Given the description of an element on the screen output the (x, y) to click on. 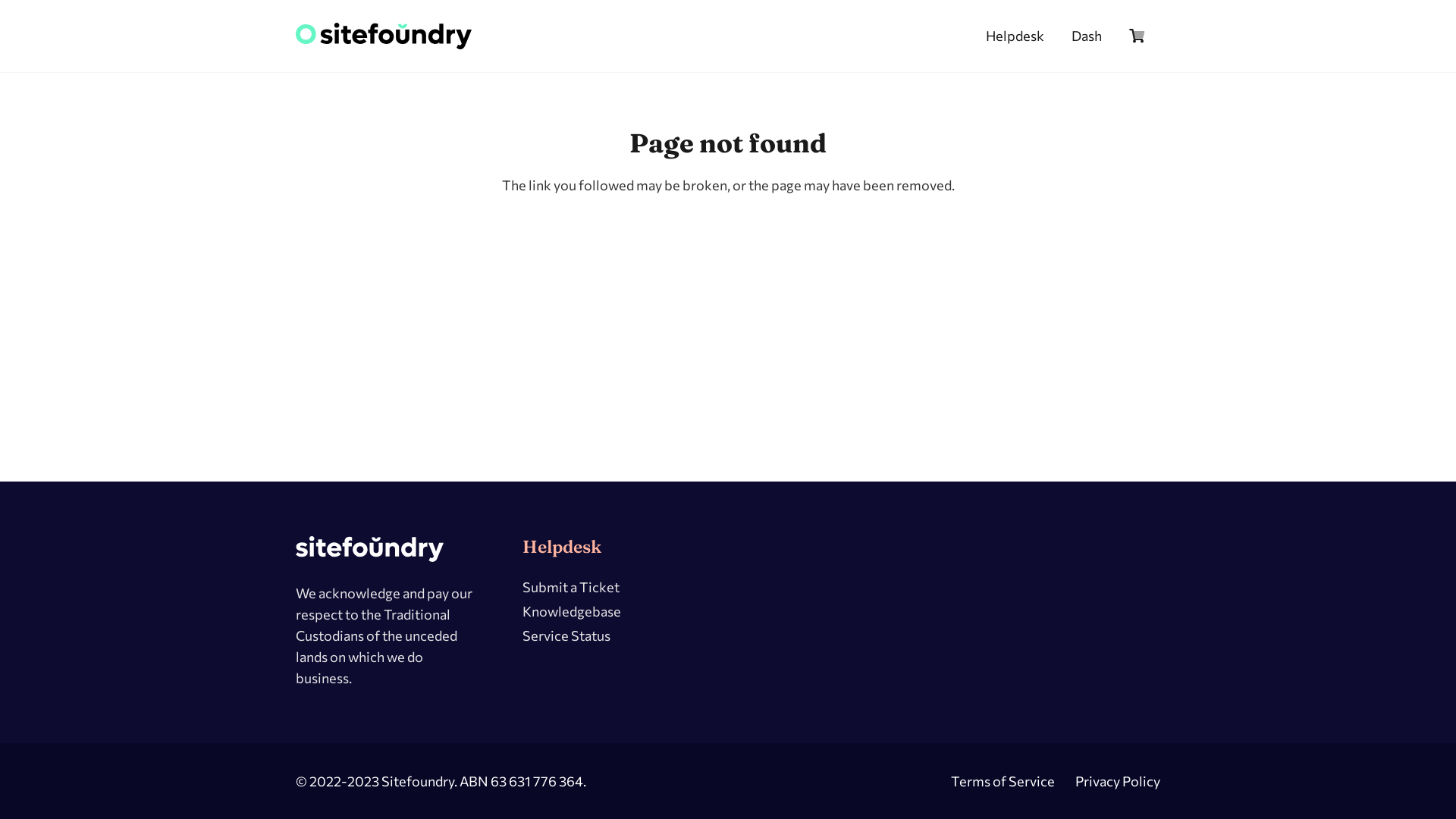
Helpdesk Element type: text (1014, 36)
Knowledgebase Element type: text (570, 610)
Dash Element type: text (1086, 36)
Submit a Ticket Element type: text (569, 586)
Terms of Service Element type: text (1002, 780)
Privacy Policy Element type: text (1117, 780)
Service Status Element type: text (565, 635)
